Given the description of an element on the screen output the (x, y) to click on. 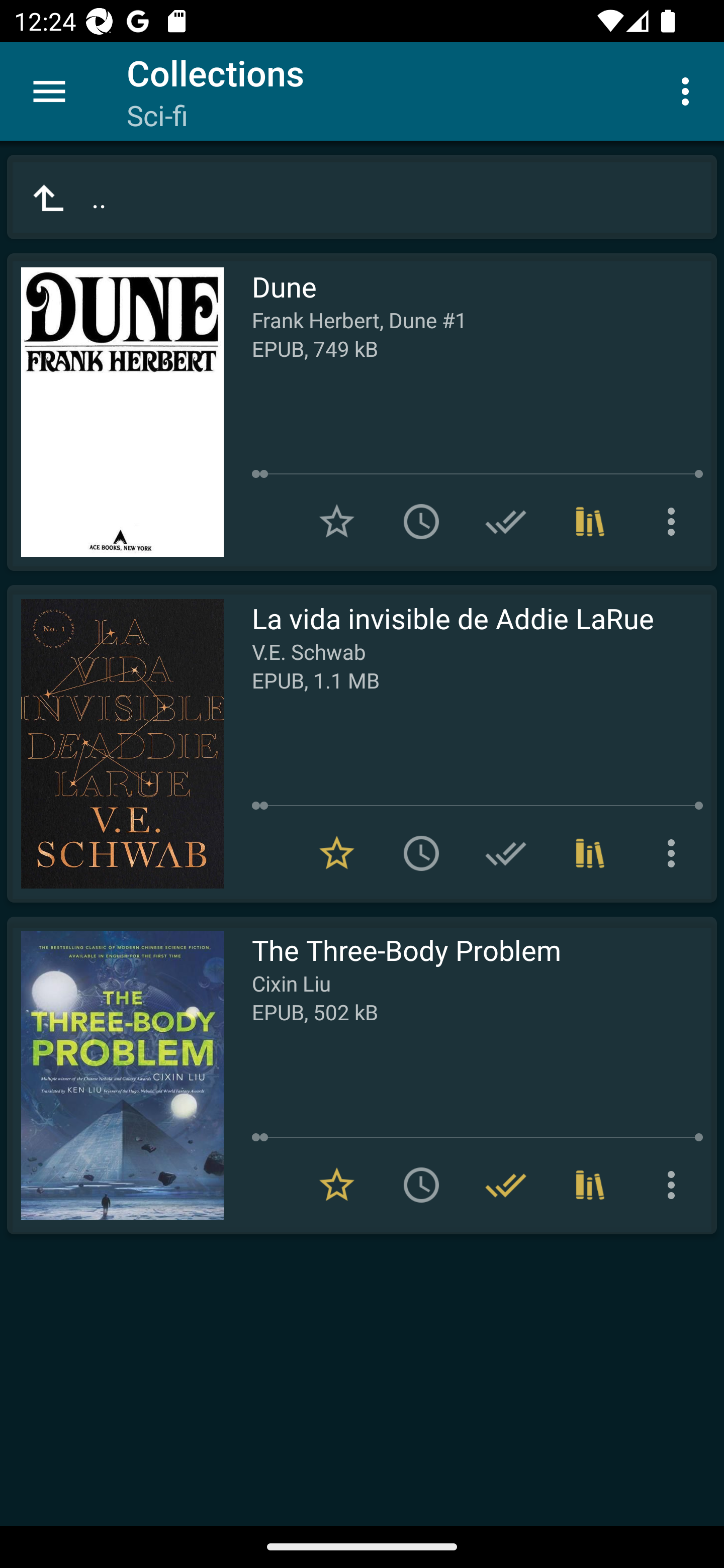
Menu (49, 91)
More options (688, 90)
.. (361, 197)
Read Dune (115, 412)
Add to Favorites (336, 521)
Add to To read (421, 521)
Add to Have read (505, 521)
Collections (1) (590, 521)
More options (674, 521)
Read La vida invisible de Addie LaRue (115, 743)
Remove from Favorites (336, 852)
Add to To read (421, 852)
Add to Have read (505, 852)
Collections (1) (590, 852)
More options (674, 852)
Read The Three-Body Problem (115, 1075)
Remove from Favorites (336, 1185)
Add to To read (421, 1185)
Remove from Have read (505, 1185)
Collections (1) (590, 1185)
More options (674, 1185)
